Given the description of an element on the screen output the (x, y) to click on. 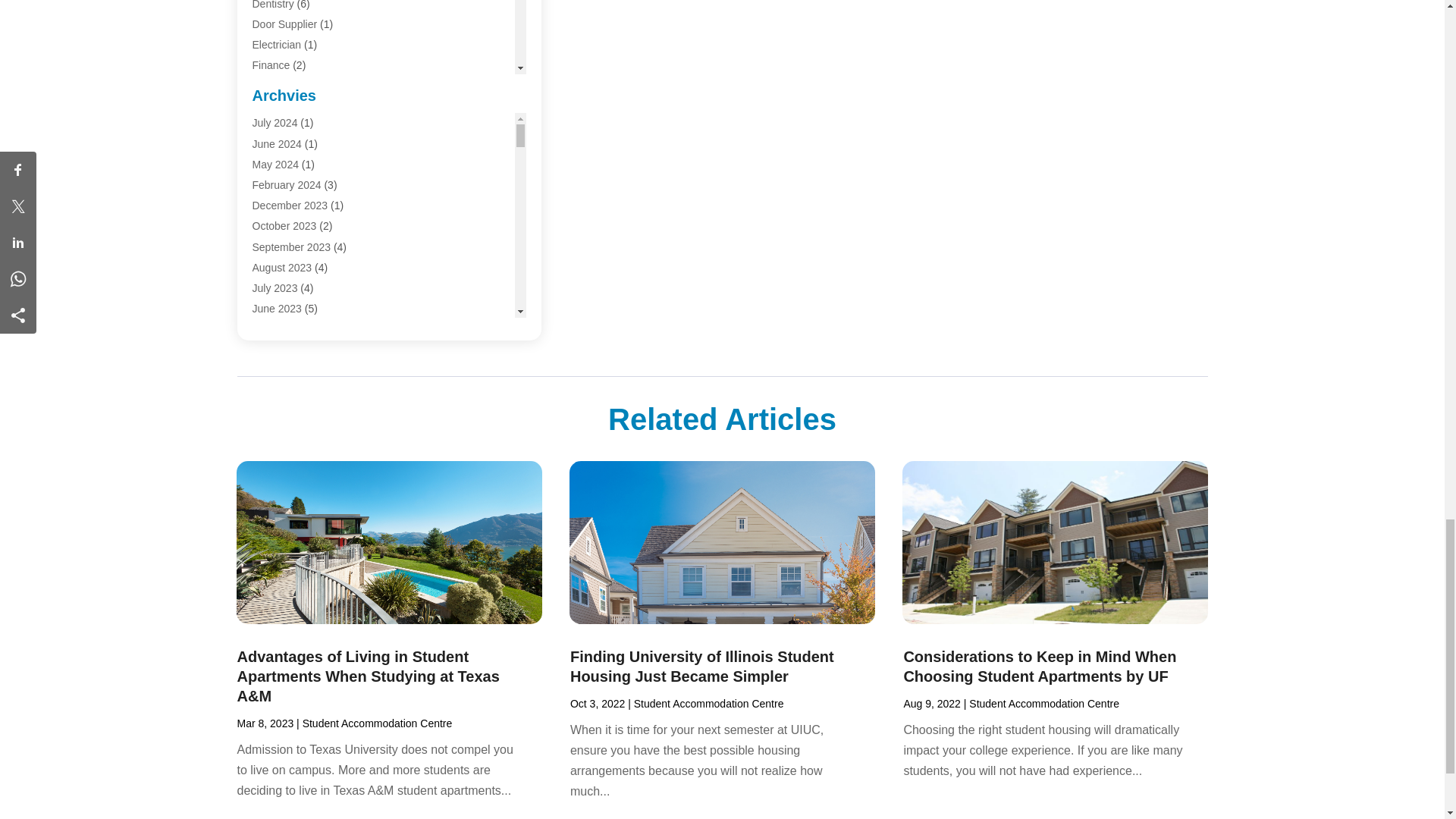
Electrician (276, 44)
General (270, 105)
Foreclosures (282, 85)
Health (266, 127)
Housing Development (303, 188)
Door Supplier (284, 24)
Dentistry (272, 4)
Finance (270, 64)
Home And Garden (295, 147)
Homes (268, 168)
